Given the description of an element on the screen output the (x, y) to click on. 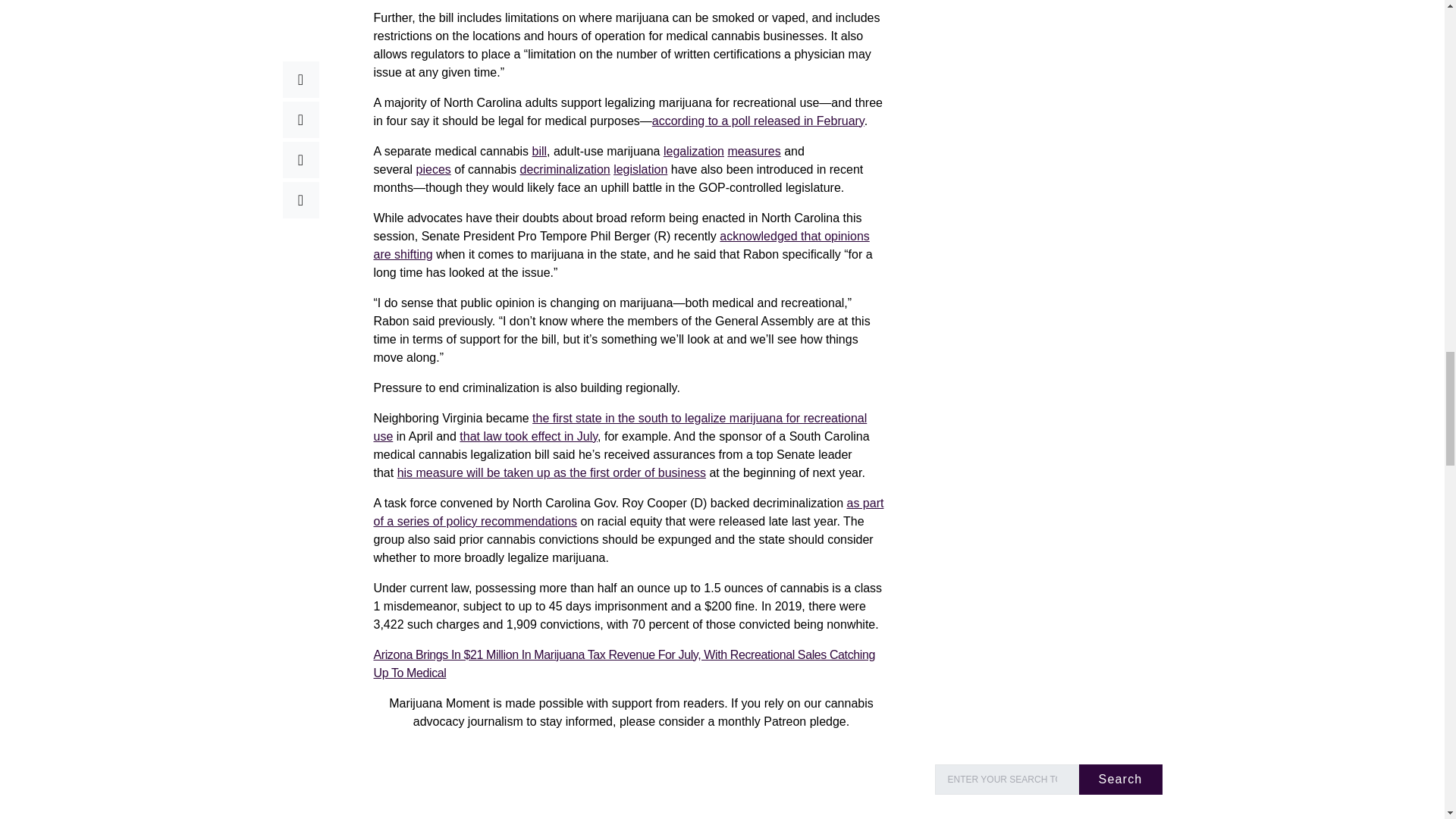
legalization (693, 150)
according to a poll released in February (758, 119)
measures (753, 150)
bill (539, 150)
